Given the description of an element on the screen output the (x, y) to click on. 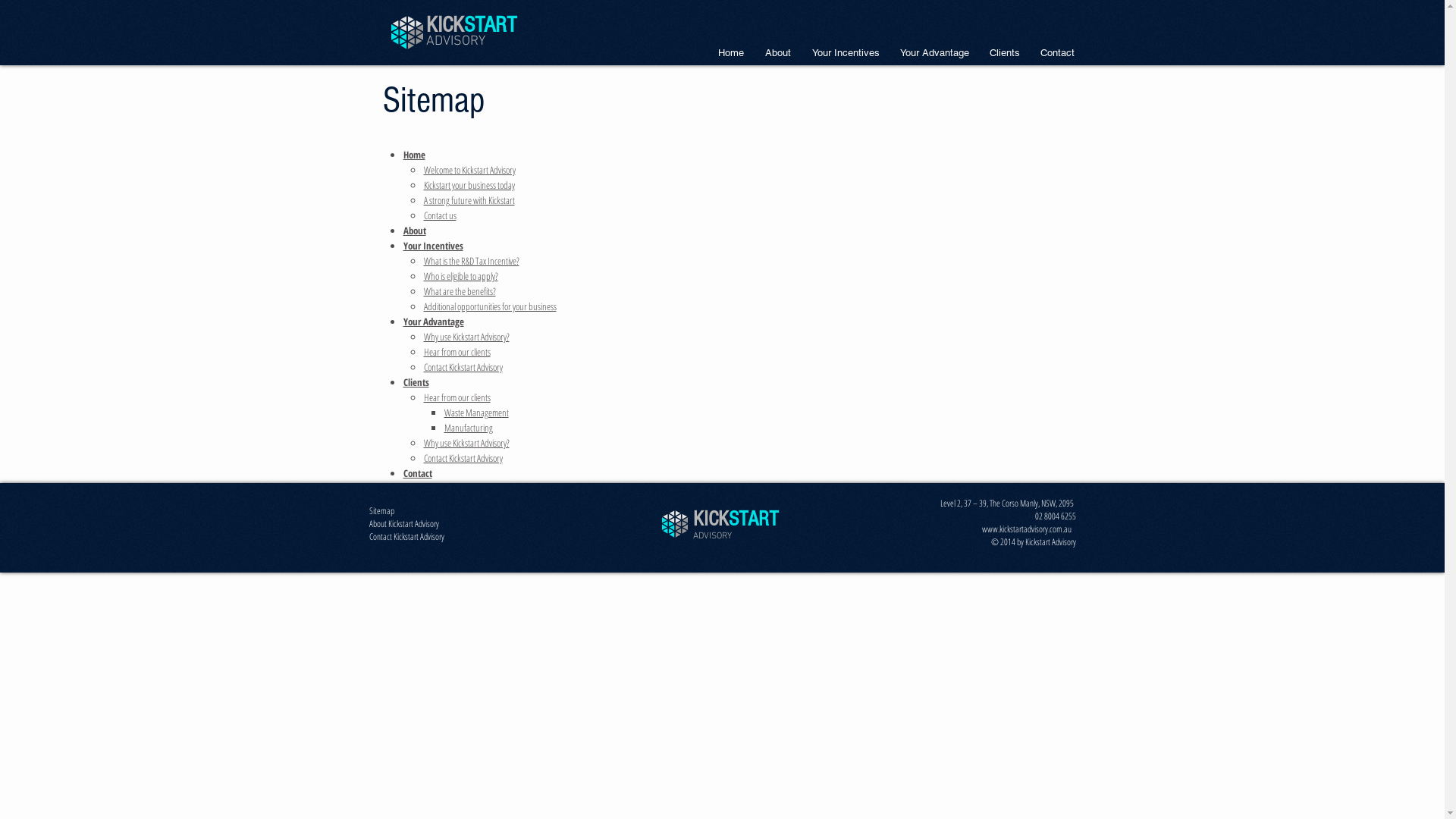
Additional opportunities for your business Element type: text (489, 306)
Who is eligible to apply? Element type: text (460, 275)
KICKSTART Element type: text (735, 518)
A strong future with Kickstart Element type: text (468, 200)
Manufacturing Element type: text (468, 427)
Sitemap Element type: text (380, 511)
Contact Kickstart Advisory Element type: text (462, 457)
Contact Kickstart Advisory Element type: text (462, 366)
ADVISORY Element type: text (712, 534)
Welcome to Kickstart Advisory Element type: text (468, 169)
Clients Element type: text (1004, 53)
Your Incentives Element type: text (844, 53)
Home Element type: text (729, 53)
About Element type: text (414, 230)
Contact us Element type: text (439, 215)
What are the benefits? Element type: text (459, 291)
Google Maps Element type: hover (938, 256)
Waste Management Element type: text (476, 412)
Contact Kickstart Advisory Element type: text (405, 537)
Your Advantage Element type: text (934, 53)
Hear from our clients Element type: text (456, 397)
About Kickstart Advisory Element type: text (403, 524)
Contact Element type: text (1056, 53)
Your Incentives Element type: text (433, 245)
Your Advantage Element type: text (433, 321)
Kickstart your business today Element type: text (468, 184)
Clients Element type: text (416, 382)
What is the R&D Tax Incentive? Element type: text (470, 260)
KICKSTART Element type: text (471, 24)
Why use Kickstart Advisory? Element type: text (465, 336)
Home Element type: text (414, 154)
Hear from our clients Element type: text (456, 351)
www.kickstartadvisory.com.au   Element type: text (1028, 529)
About Element type: text (776, 53)
ADVISORY Element type: text (455, 39)
Contact Element type: text (417, 473)
Why use Kickstart Advisory? Element type: text (465, 442)
